Given the description of an element on the screen output the (x, y) to click on. 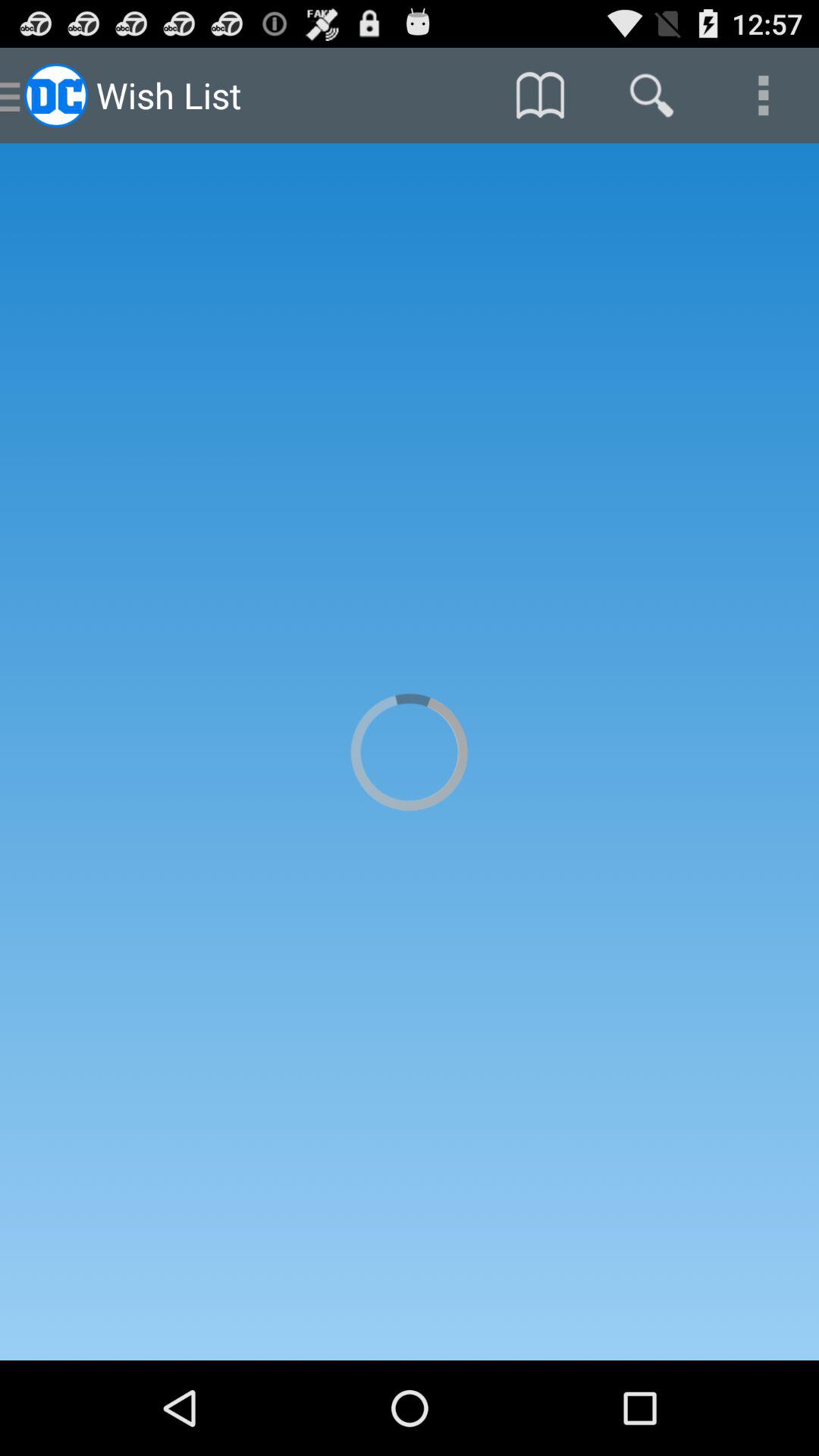
press item next to wish list item (540, 95)
